Given the description of an element on the screen output the (x, y) to click on. 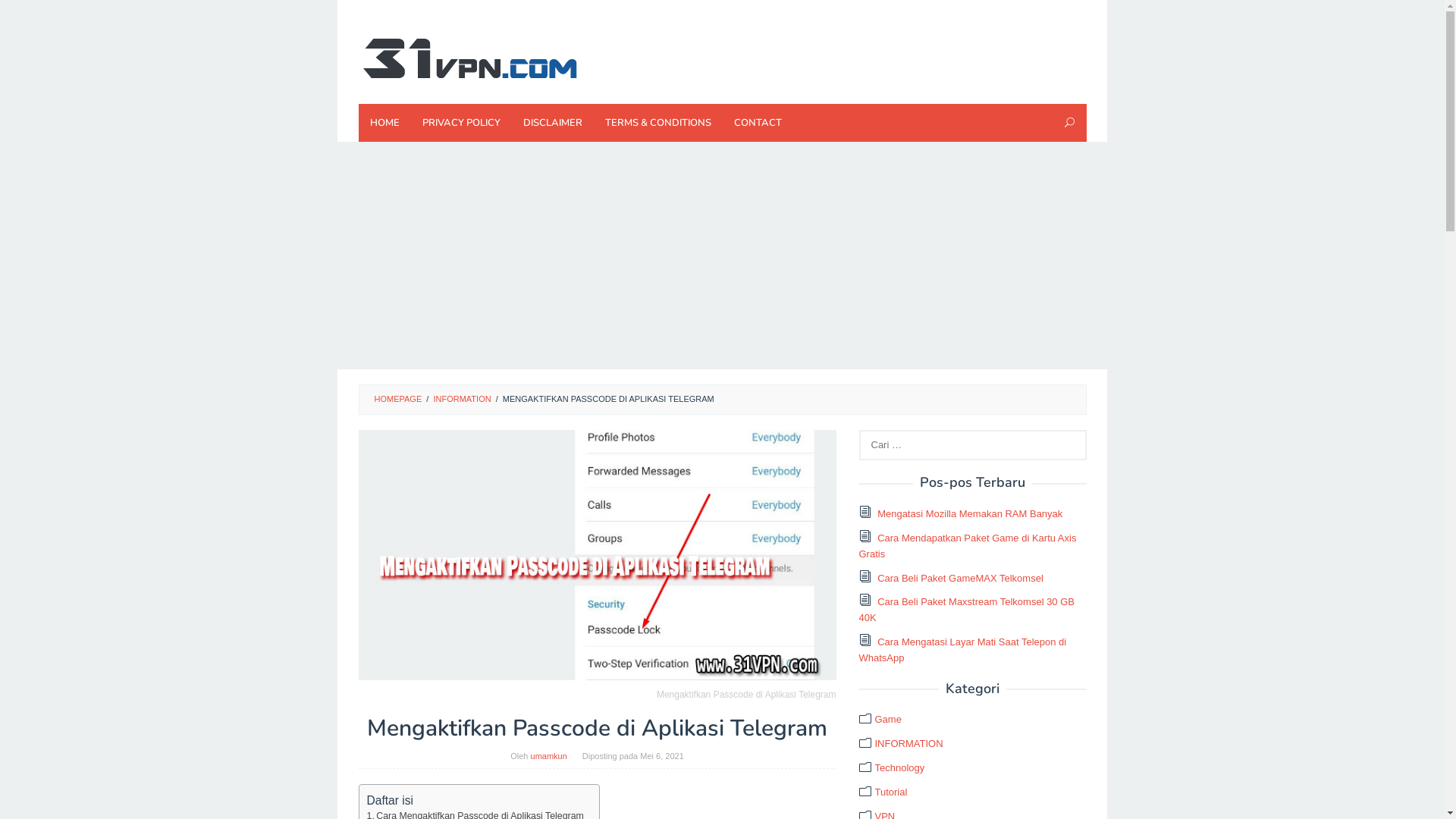
Mengaktifkan Passcode di Aplikasi Telegram Element type: hover (596, 554)
Techno News Element type: hover (467, 57)
Cara Beli Paket Maxstream Telkomsel 30 GB 40K Element type: text (966, 609)
DISCLAIMER Element type: text (552, 122)
Game Element type: text (888, 718)
Tutorial Element type: text (891, 791)
INFORMATION Element type: text (909, 743)
HOME Element type: text (383, 122)
Cara Mengatasi Layar Mati Saat Telepon di WhatsApp Element type: text (962, 649)
TERMS & CONDITIONS Element type: text (657, 122)
Mengatasi Mozilla Memakan RAM Banyak Element type: text (969, 513)
HOMEPAGE Element type: text (398, 398)
Cari Element type: text (21, 15)
Technology Element type: text (900, 767)
INFORMATION Element type: text (461, 398)
Advertisement Element type: hover (722, 255)
umamkun Element type: text (548, 755)
PRIVACY POLICY Element type: text (461, 122)
Cara Beli Paket GameMAX Telkomsel Element type: text (960, 577)
Cara Mendapatkan Paket Game di Kartu Axis Gratis Element type: text (967, 545)
CONTACT Element type: text (756, 122)
Techno News Element type: hover (467, 56)
